Given the description of an element on the screen output the (x, y) to click on. 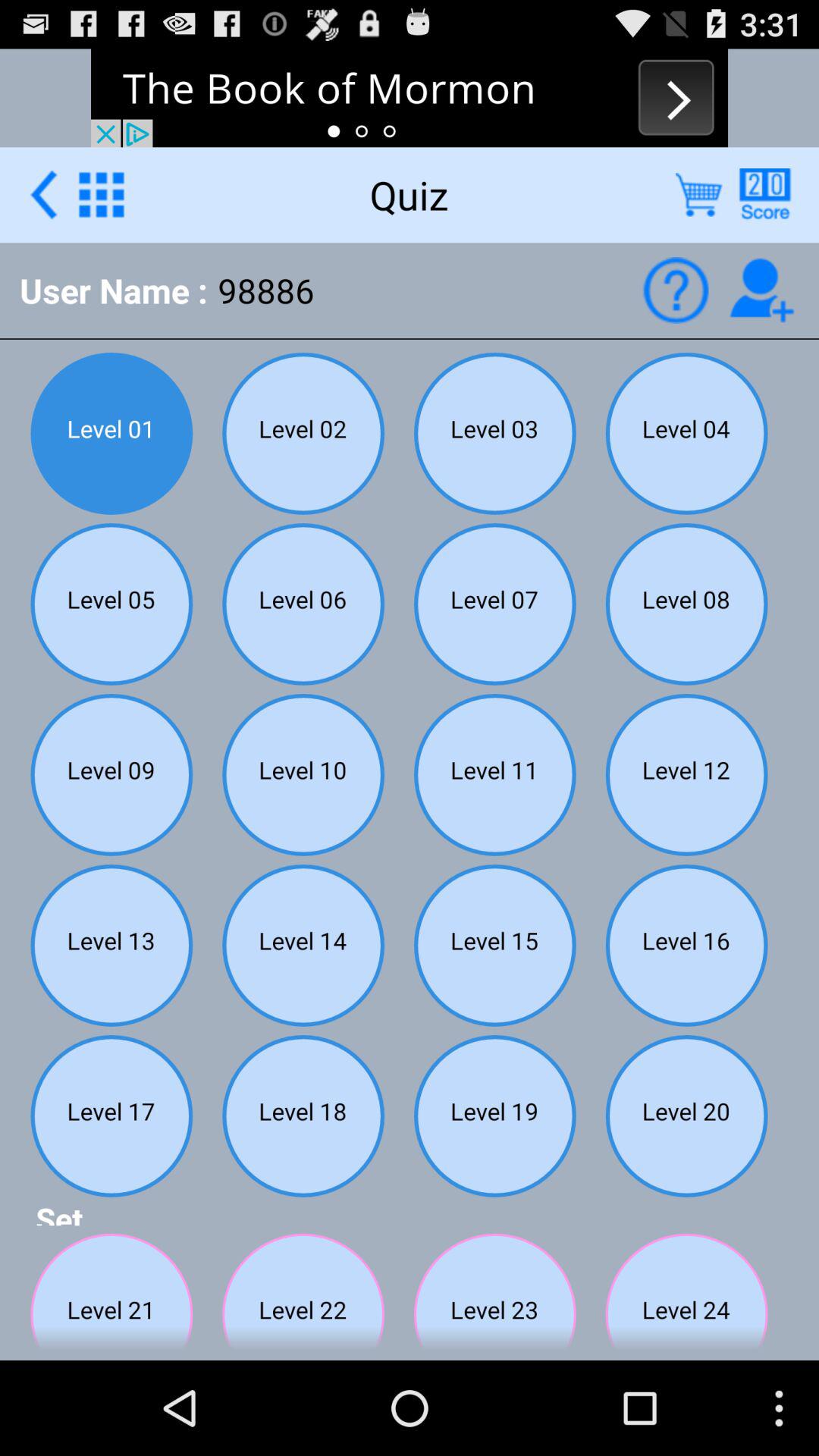
cart (698, 194)
